Given the description of an element on the screen output the (x, y) to click on. 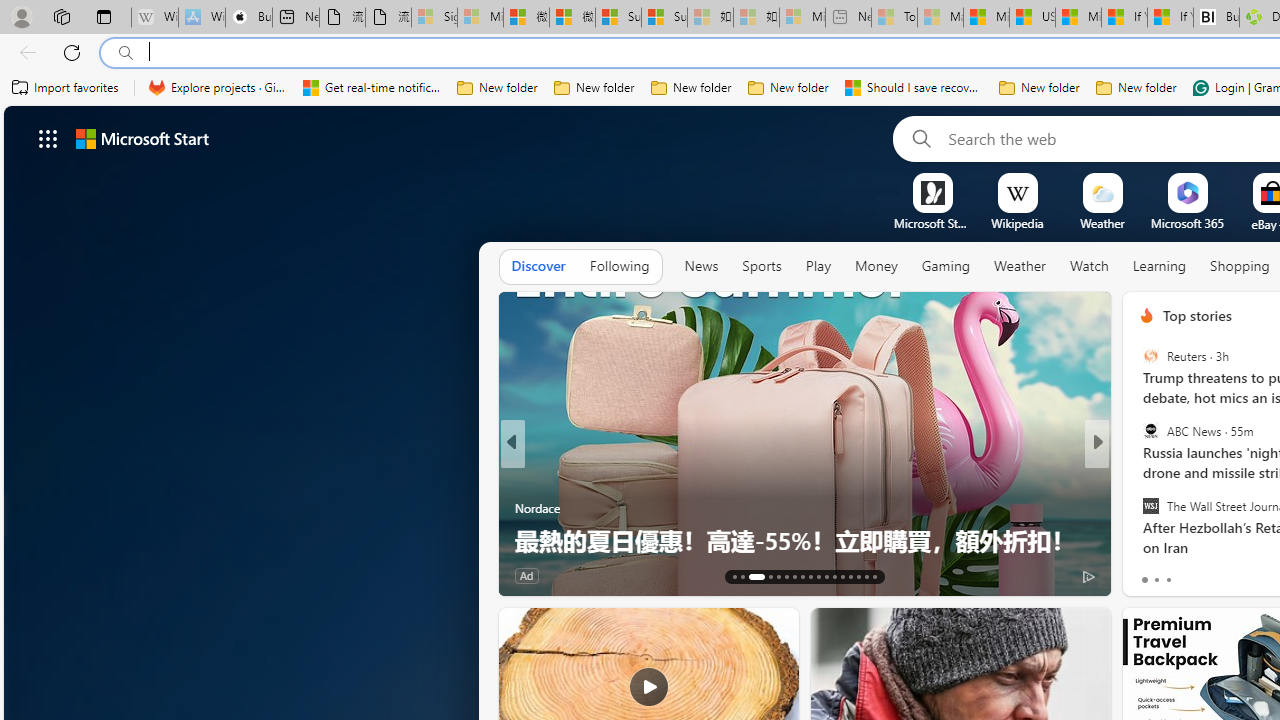
View comments 1k Comment (1244, 574)
The Verge (1138, 507)
AutomationID: tab-28 (865, 576)
AutomationID: tab-13 (733, 576)
View comments 22 Comment (1244, 574)
The Wall Street Journal (1149, 505)
Microsoft Services Agreement - Sleeping (480, 17)
Marine life - MSN - Sleeping (939, 17)
Wikipedia - Sleeping (154, 17)
AutomationID: tab-19 (793, 576)
AutomationID: tab-18 (786, 576)
AutomationID: tab-16 (763, 576)
